Given the description of an element on the screen output the (x, y) to click on. 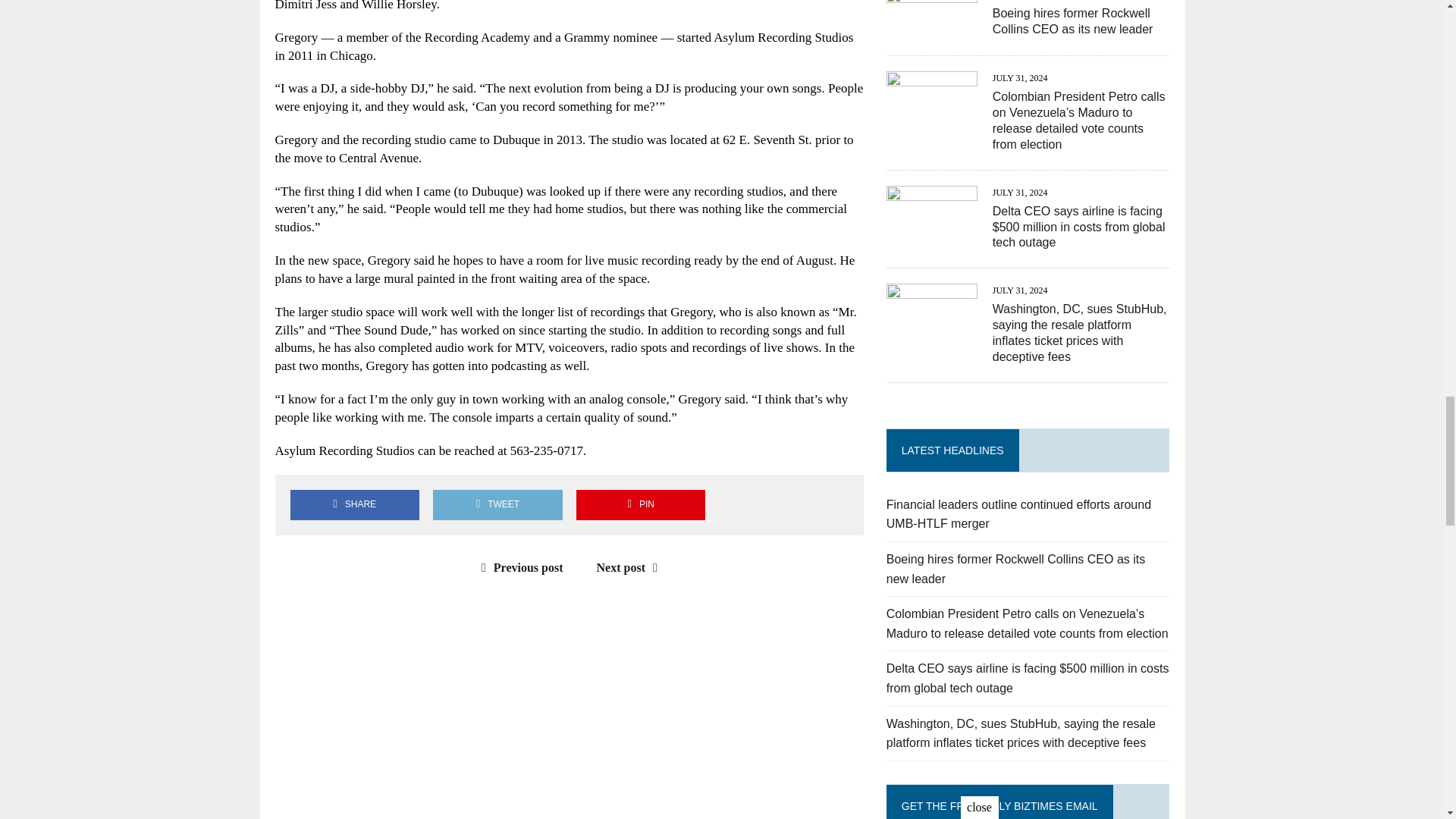
PIN (640, 504)
Tweet This Post (497, 504)
Next post (630, 567)
Boeing hires former Rockwell Collins CEO as its new leader (931, 29)
TWEET (497, 504)
Share on Facebook (354, 504)
SHARE (354, 504)
Boeing hires former Rockwell Collins CEO as its new leader (1072, 21)
Pin This Post (640, 504)
Previous post (518, 567)
